Given the description of an element on the screen output the (x, y) to click on. 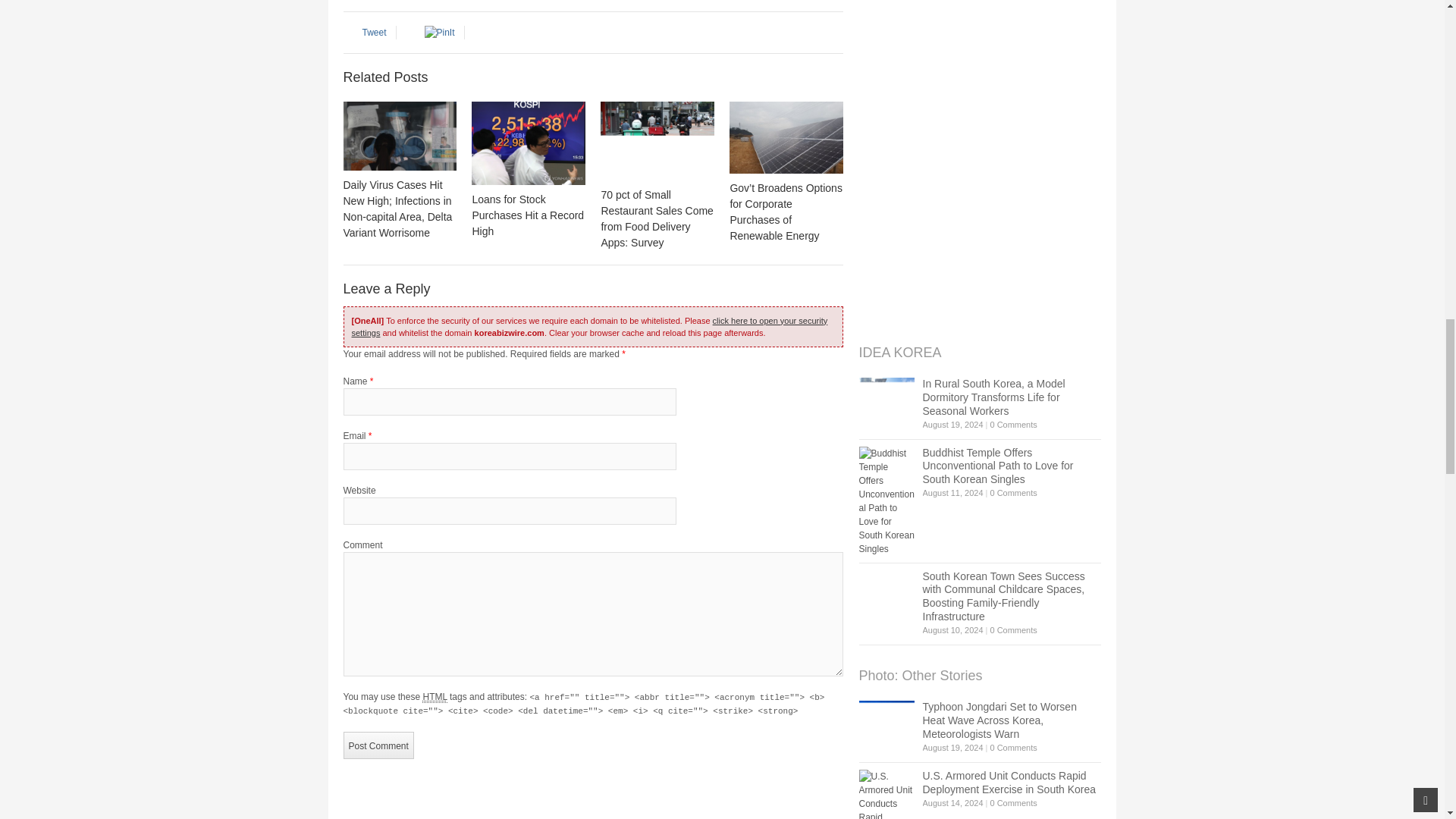
Loans for Stock Purchases Hit a Record High (528, 143)
Post Comment (377, 745)
